Given the description of an element on the screen output the (x, y) to click on. 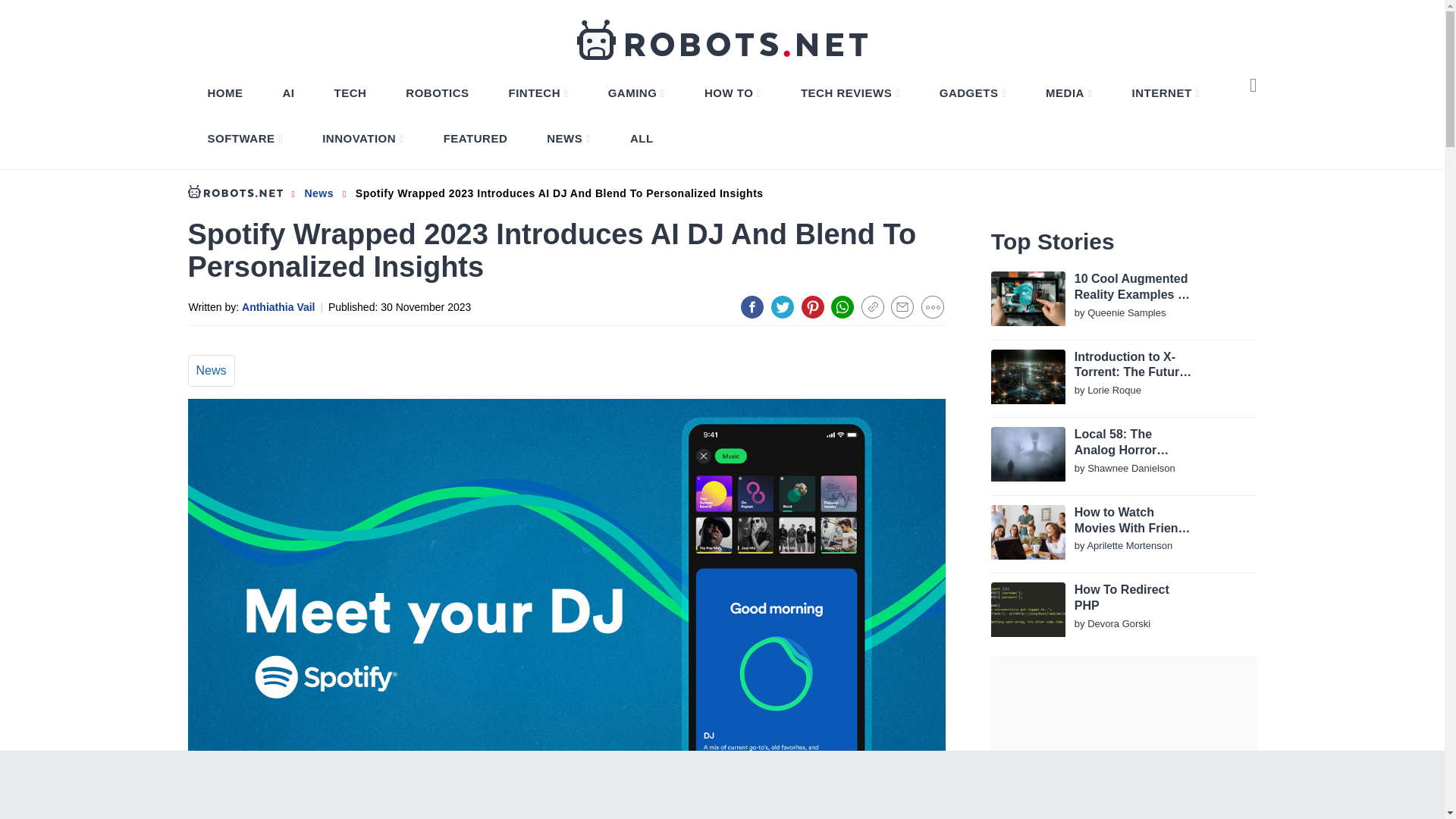
Share on Pinterest (813, 306)
MEDIA (1068, 93)
TECH REVIEWS (850, 93)
TECH (350, 93)
Mail the Link (902, 306)
View Less (932, 306)
Copy to Clipboard (872, 306)
HOW TO (732, 93)
Share on twitter (782, 306)
GADGETS (972, 93)
Share on facebook (751, 306)
Share on Whatsapp (842, 306)
FINTECH (538, 93)
GAMING (635, 93)
HOME (225, 93)
